Given the description of an element on the screen output the (x, y) to click on. 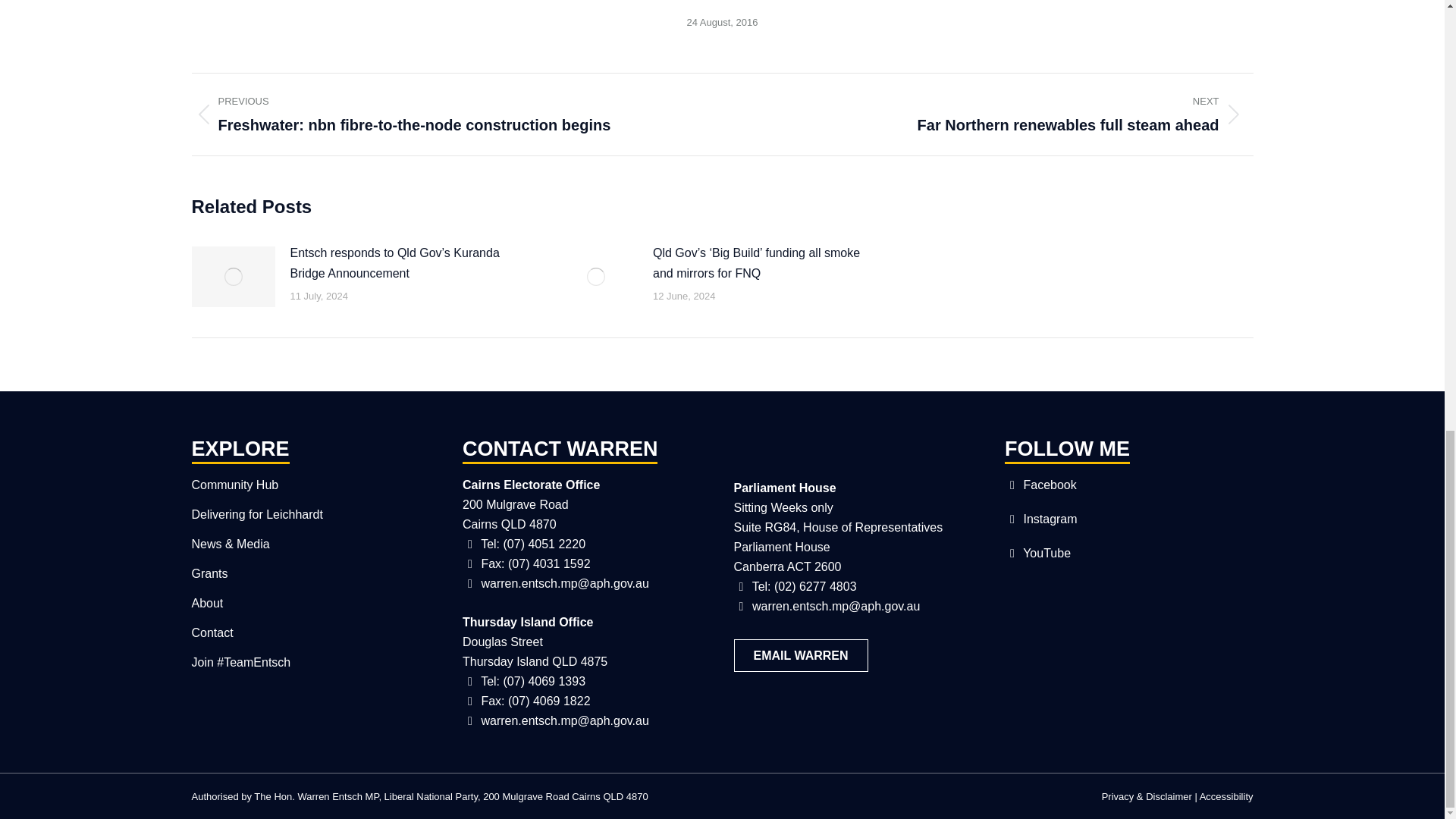
12:00 am (722, 22)
